Given the description of an element on the screen output the (x, y) to click on. 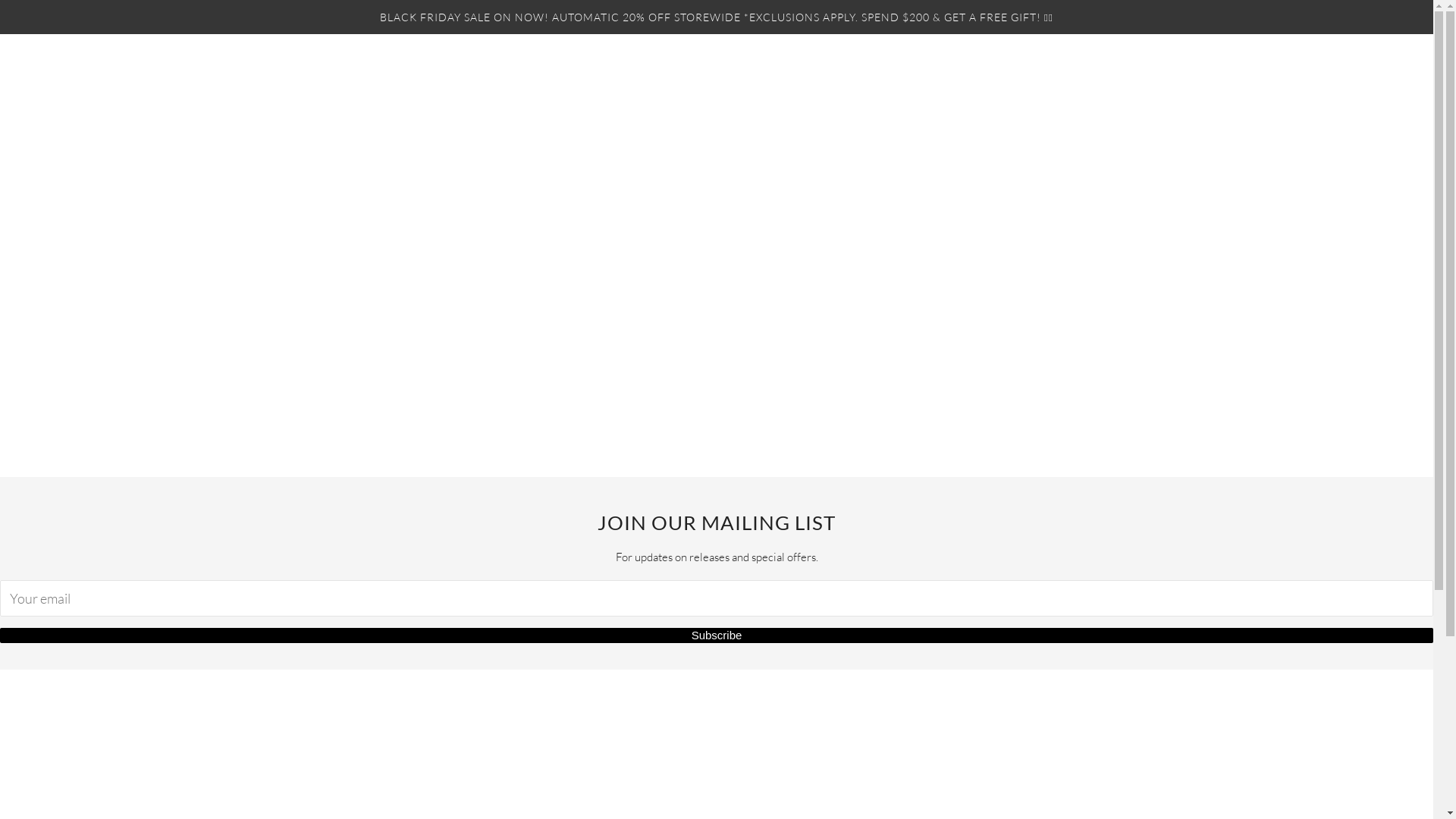
Subscribe Element type: text (716, 634)
